Given the description of an element on the screen output the (x, y) to click on. 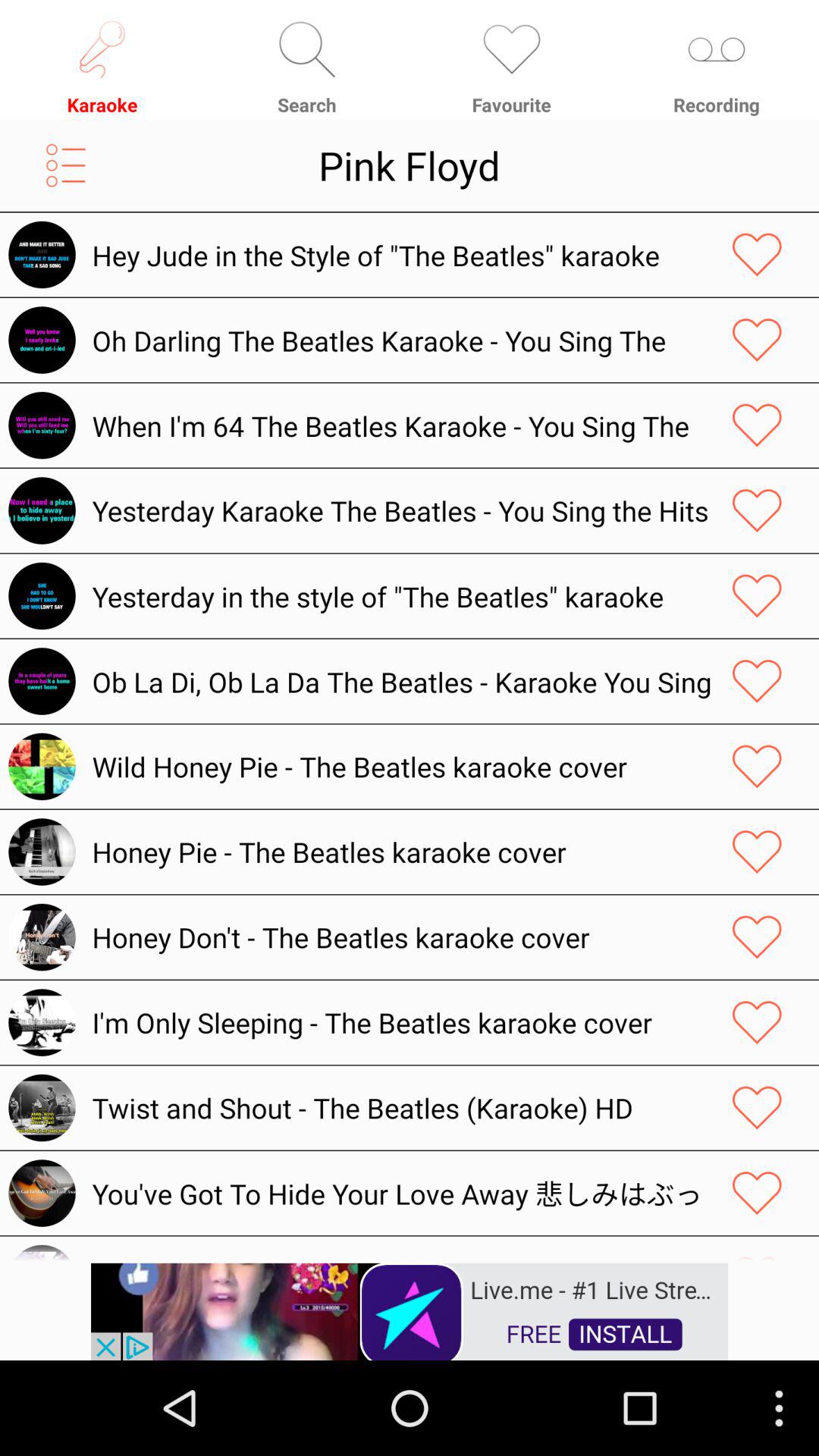
favorite option (756, 681)
